Given the description of an element on the screen output the (x, y) to click on. 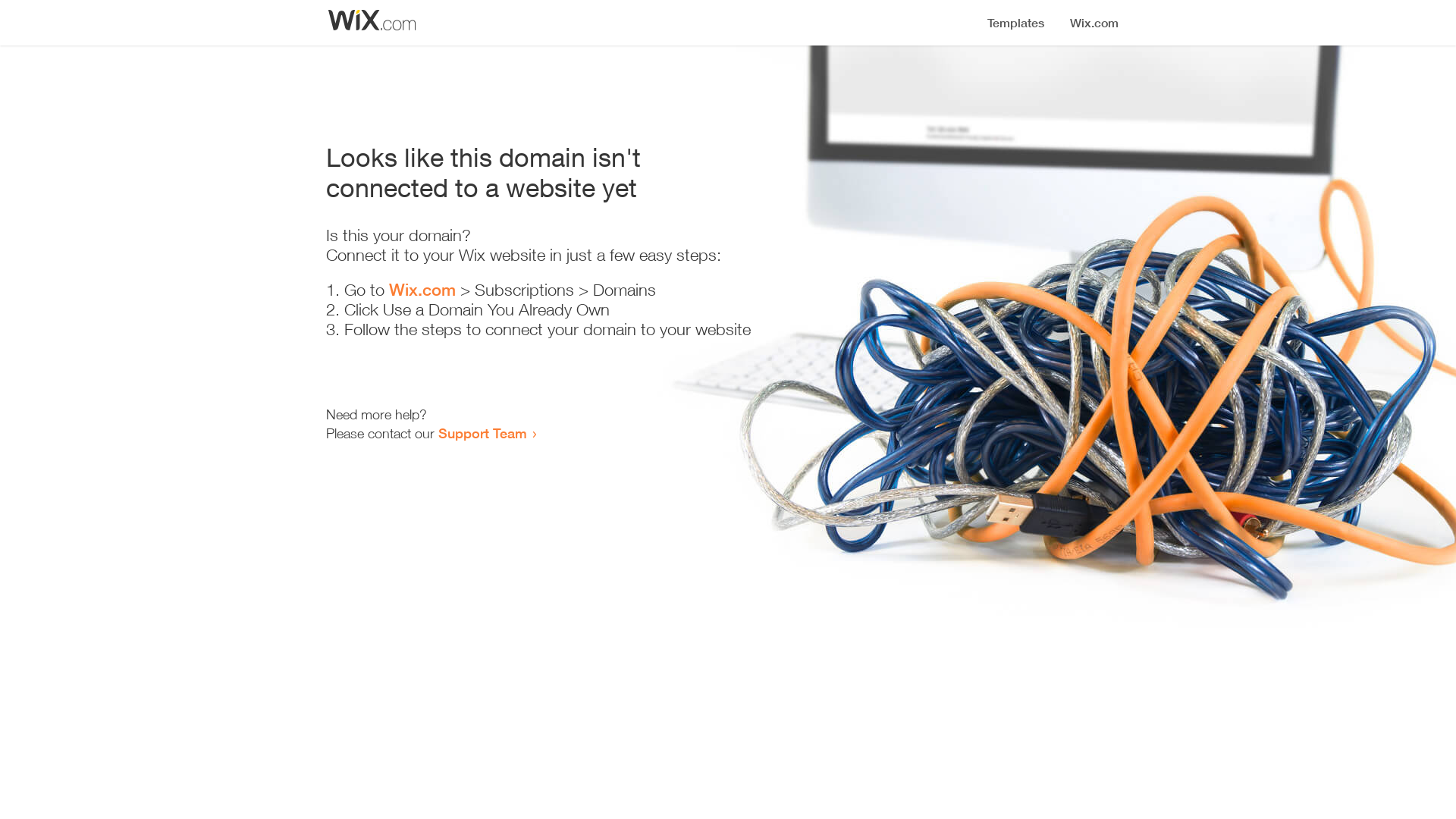
Wix.com Element type: text (422, 289)
Support Team Element type: text (482, 432)
